Given the description of an element on the screen output the (x, y) to click on. 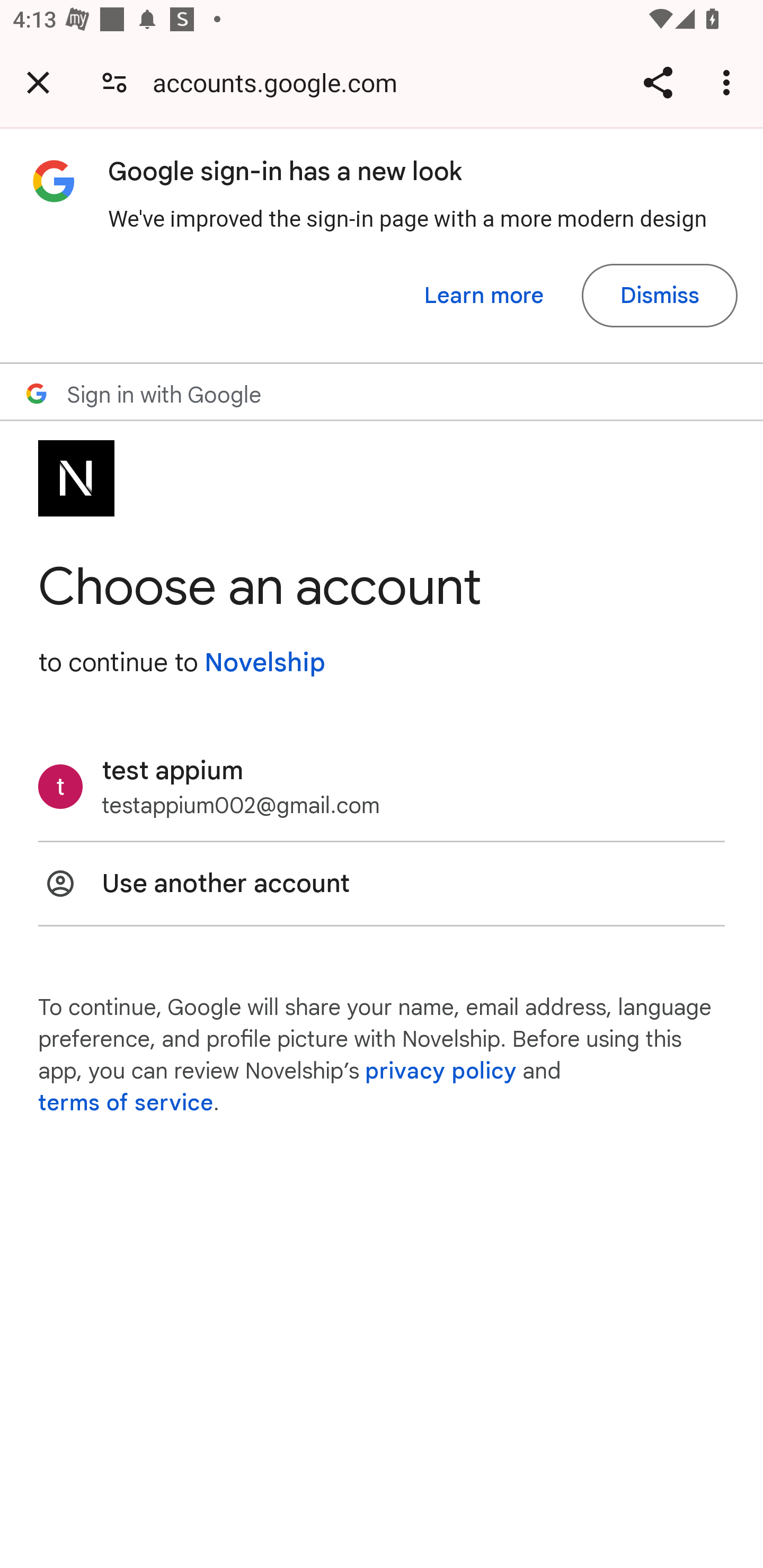
Close tab (38, 82)
Share (657, 82)
Customize and control Google Chrome (729, 82)
Connection is secure (114, 81)
accounts.google.com (281, 81)
Learn more (483, 295)
Dismiss (659, 295)
Novelship (264, 662)
Use another account (381, 883)
privacy policy (440, 1070)
terms of service (126, 1102)
